Given the description of an element on the screen output the (x, y) to click on. 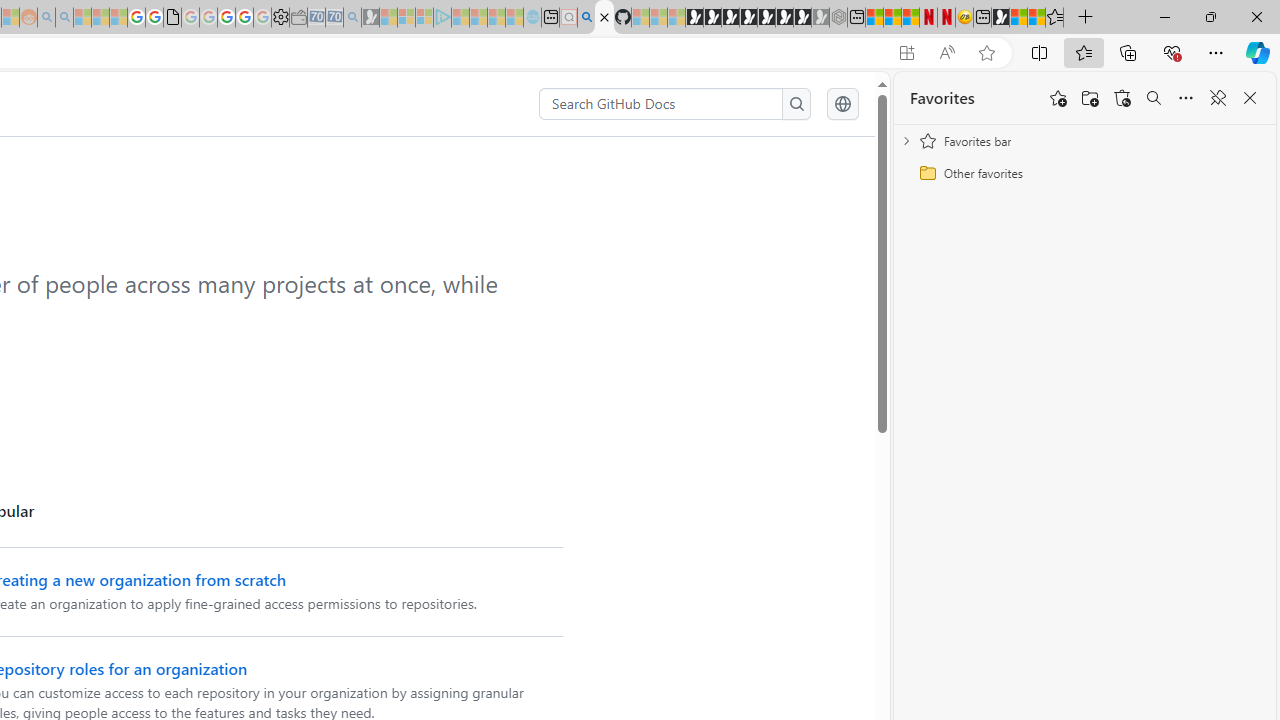
Add folder (1089, 98)
Add this page to favorites (1058, 98)
Organizations and teams documentation - GitHub Docs (604, 17)
App available. Install GitHub Docs (906, 53)
